Given the description of an element on the screen output the (x, y) to click on. 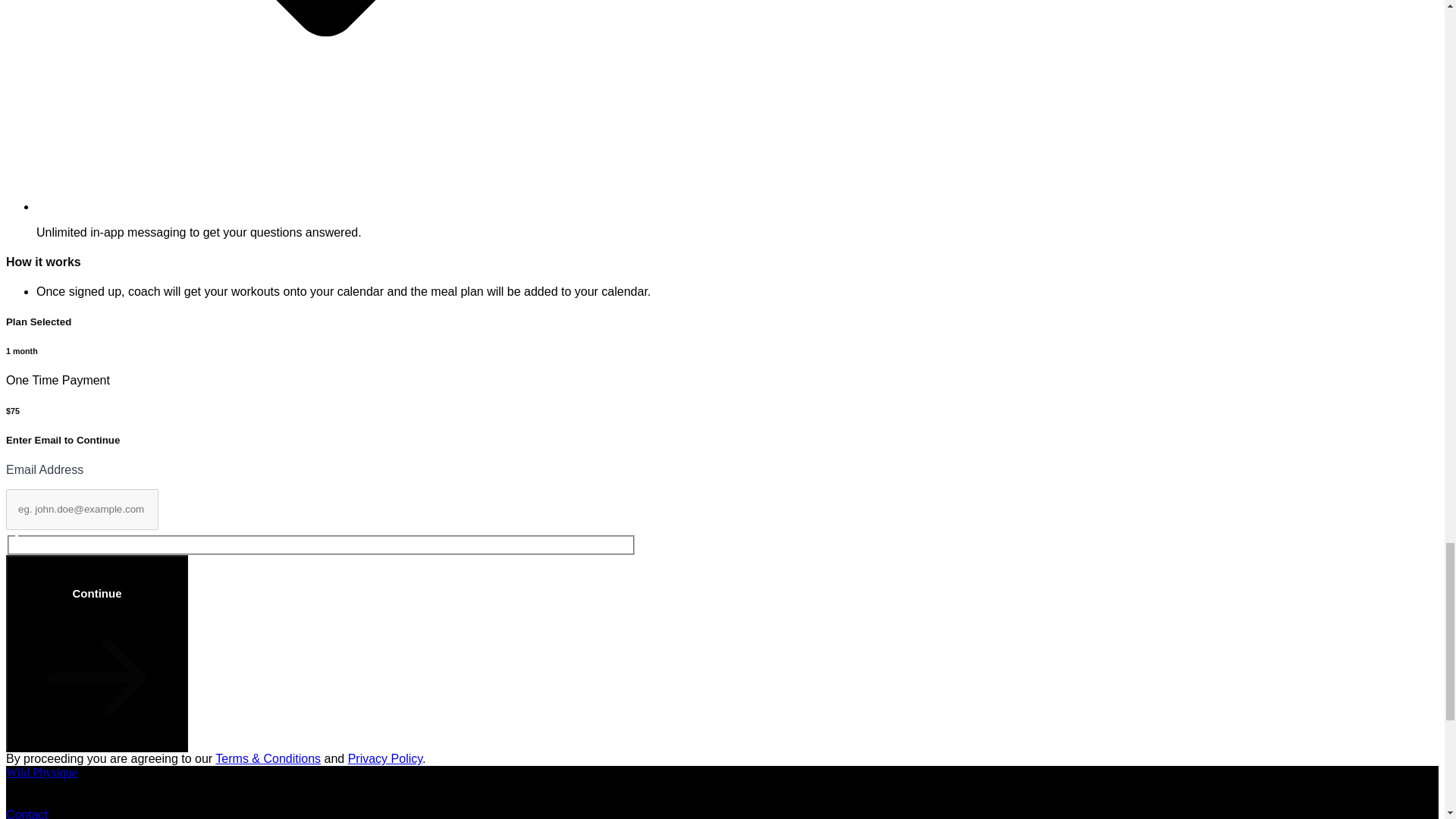
Continue (96, 653)
Privacy Policy (384, 758)
Contact (26, 813)
